Given the description of an element on the screen output the (x, y) to click on. 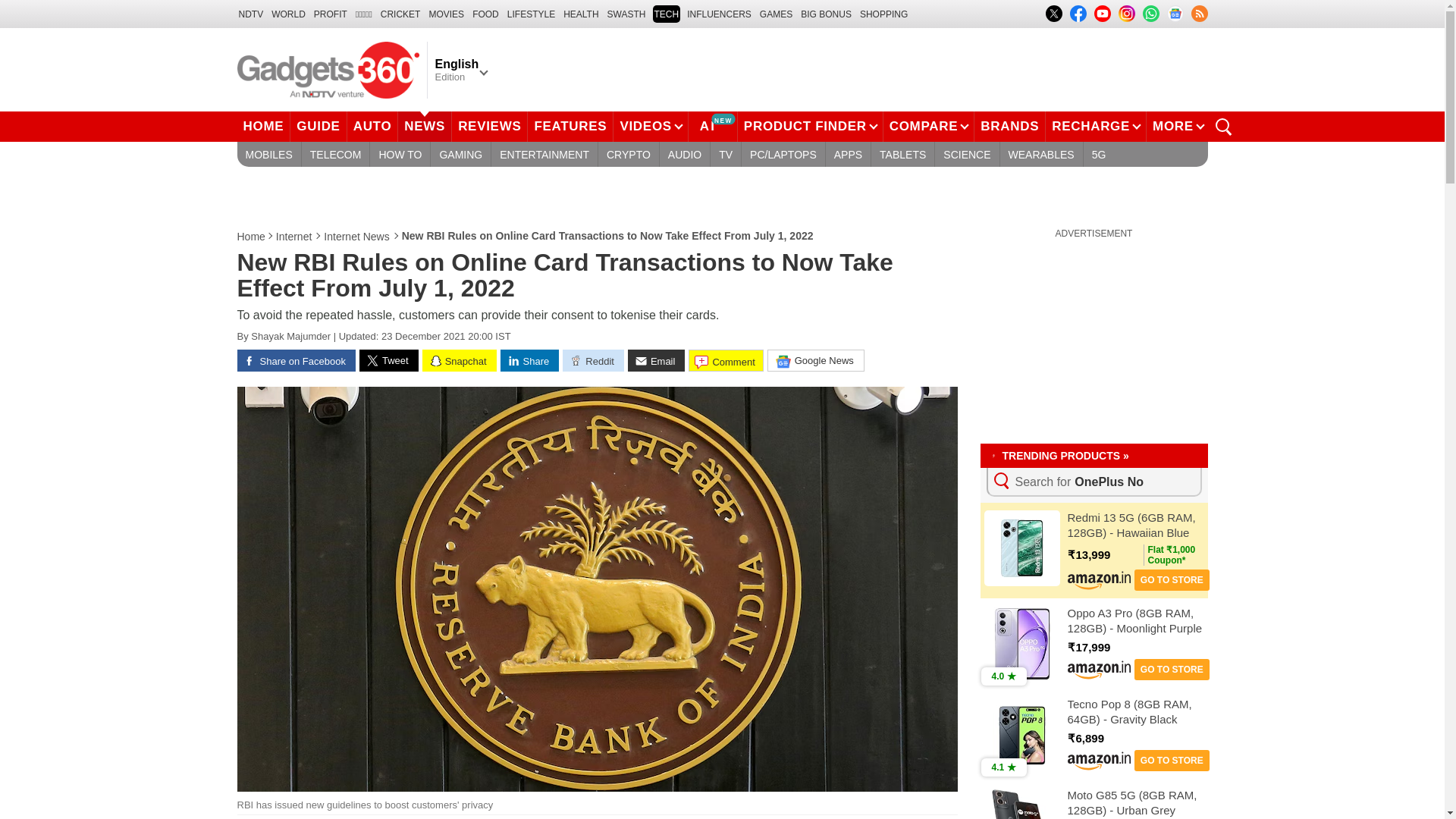
SHOPPING (883, 13)
NDTV (249, 13)
AUTO (372, 126)
MOVIES (445, 13)
CRICKET (400, 13)
WORLD (288, 13)
FEATURES (569, 126)
GAMES (775, 13)
NEWS (424, 126)
RSS (1199, 13)
FOOD (485, 13)
HOME (262, 126)
HEALTH (580, 13)
World (288, 13)
TECH (665, 13)
